Given the description of an element on the screen output the (x, y) to click on. 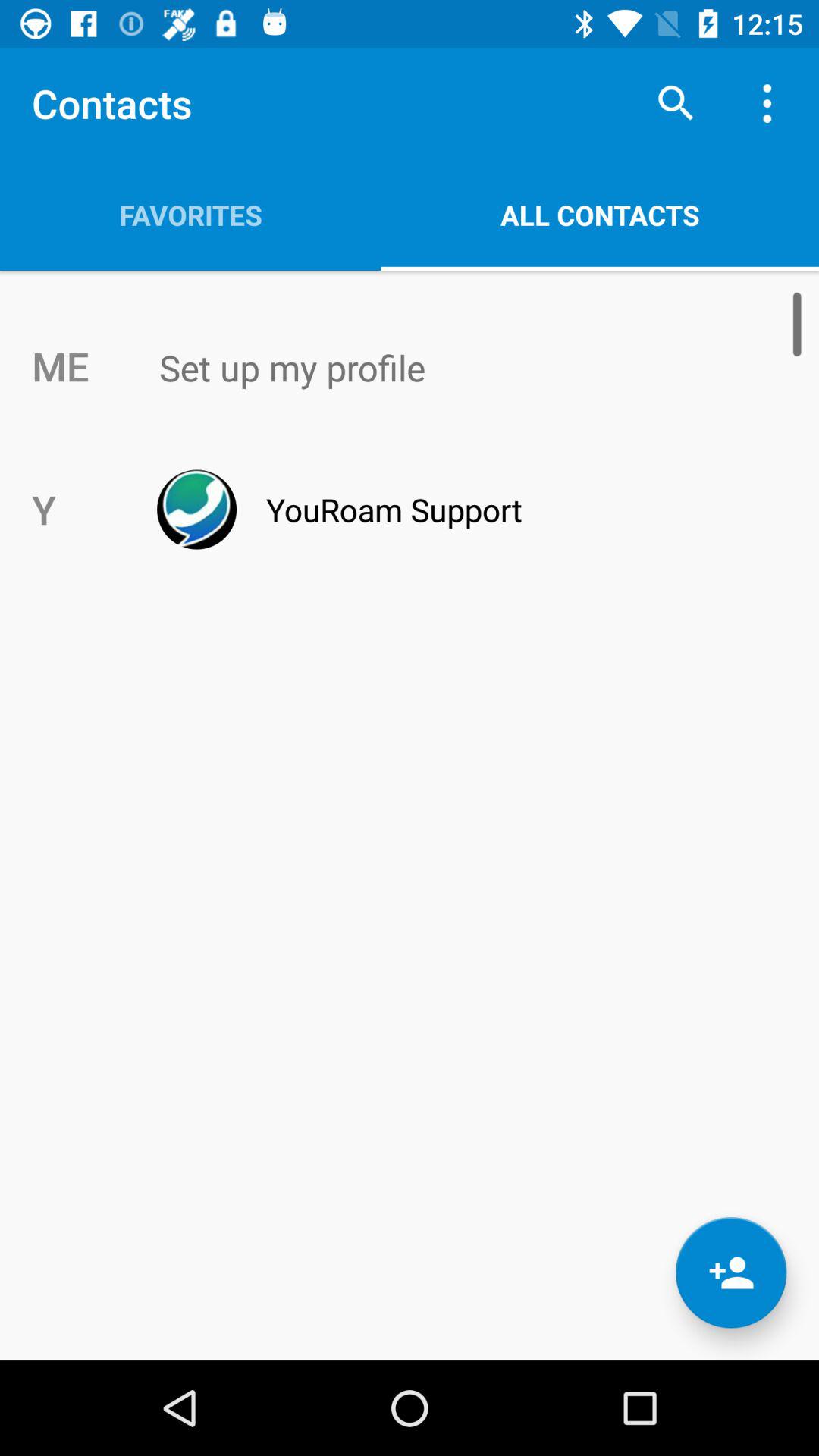
click item to the left of all contacts app (190, 214)
